Given the description of an element on the screen output the (x, y) to click on. 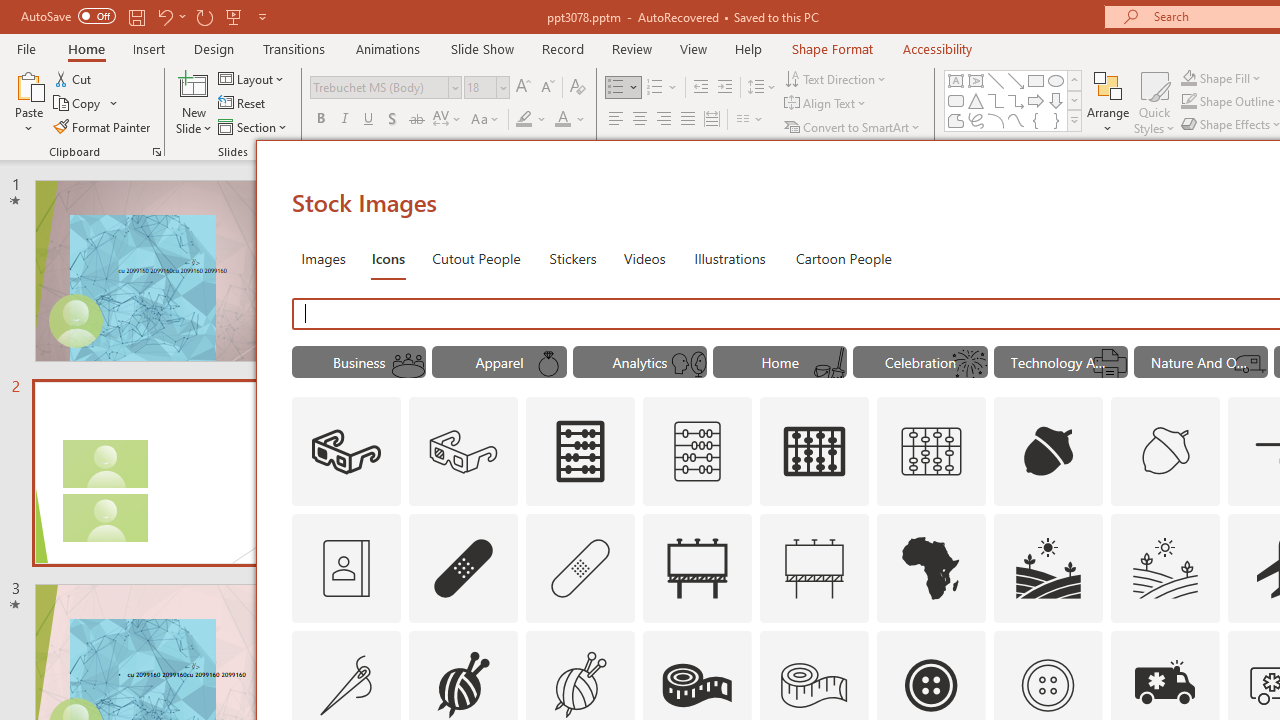
Increase Font Size (522, 87)
"Technology And Electronics" Icons. (1060, 362)
Freeform: Shape (955, 120)
Change Case (486, 119)
